Given the description of an element on the screen output the (x, y) to click on. 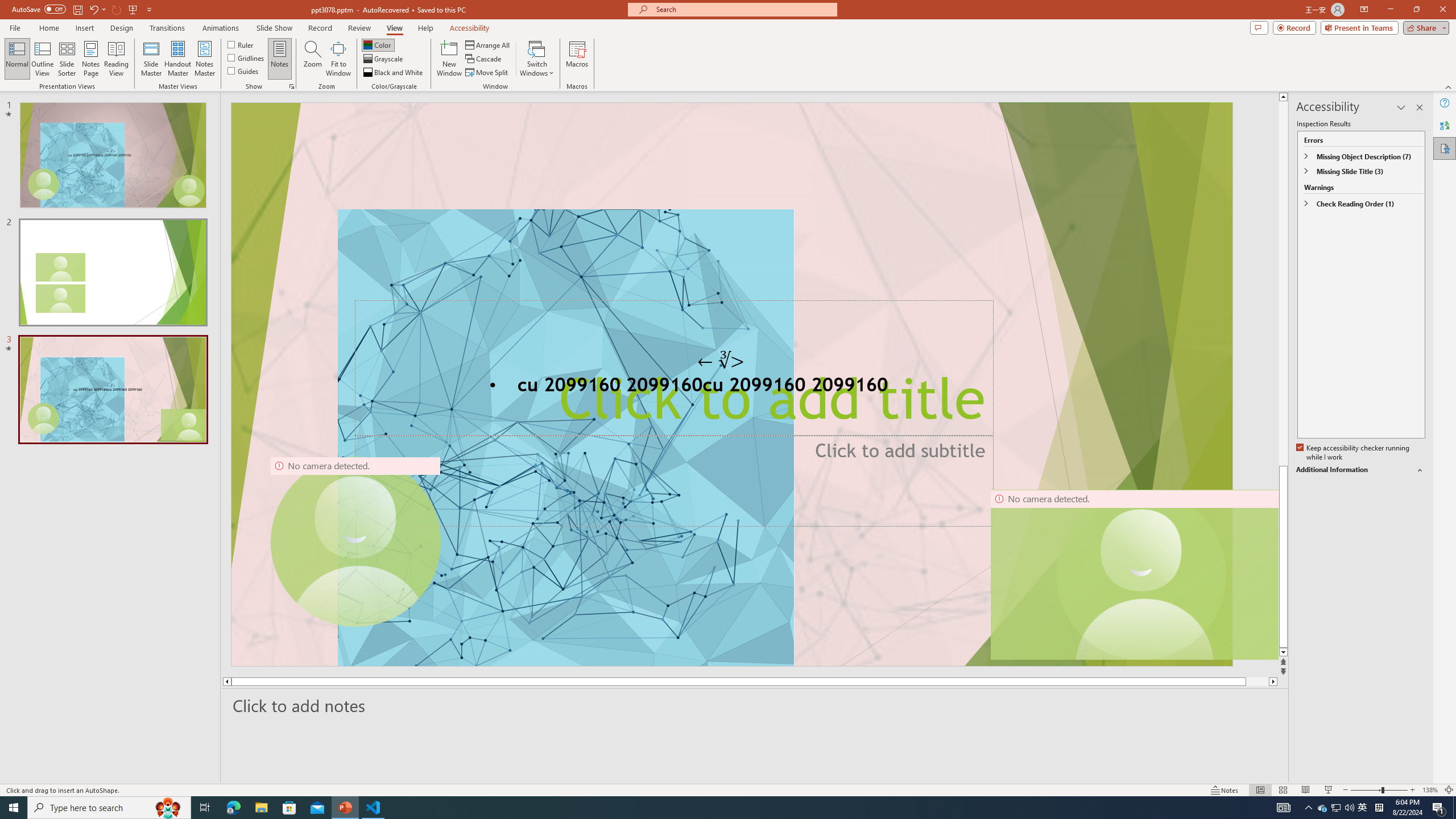
Grid Settings... (291, 85)
TextBox 61 (730, 386)
Notes Page (90, 58)
Camera 14, No camera detected. (1134, 574)
